Given the description of an element on the screen output the (x, y) to click on. 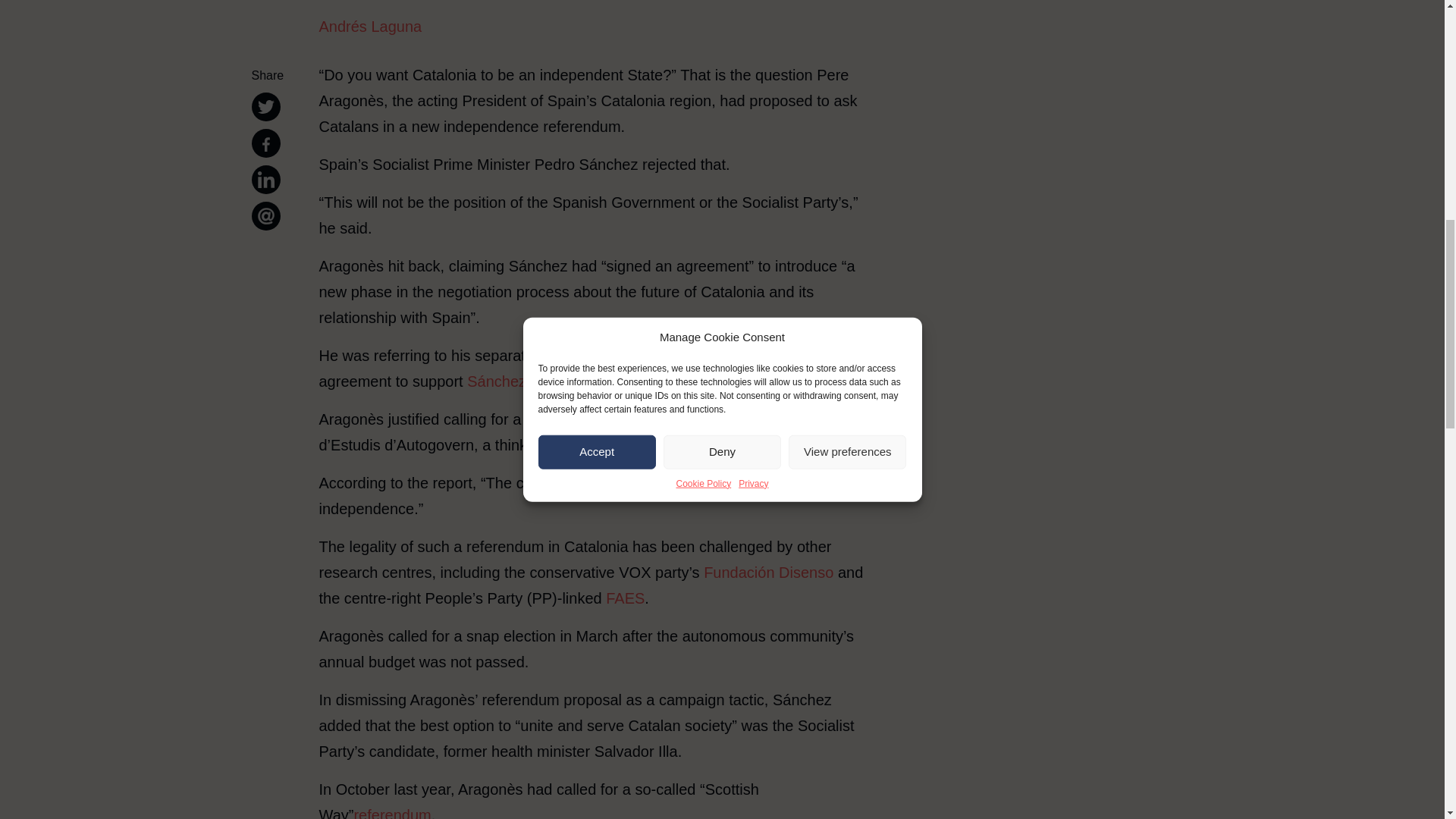
referendum (391, 812)
FAES (625, 597)
